Given the description of an element on the screen output the (x, y) to click on. 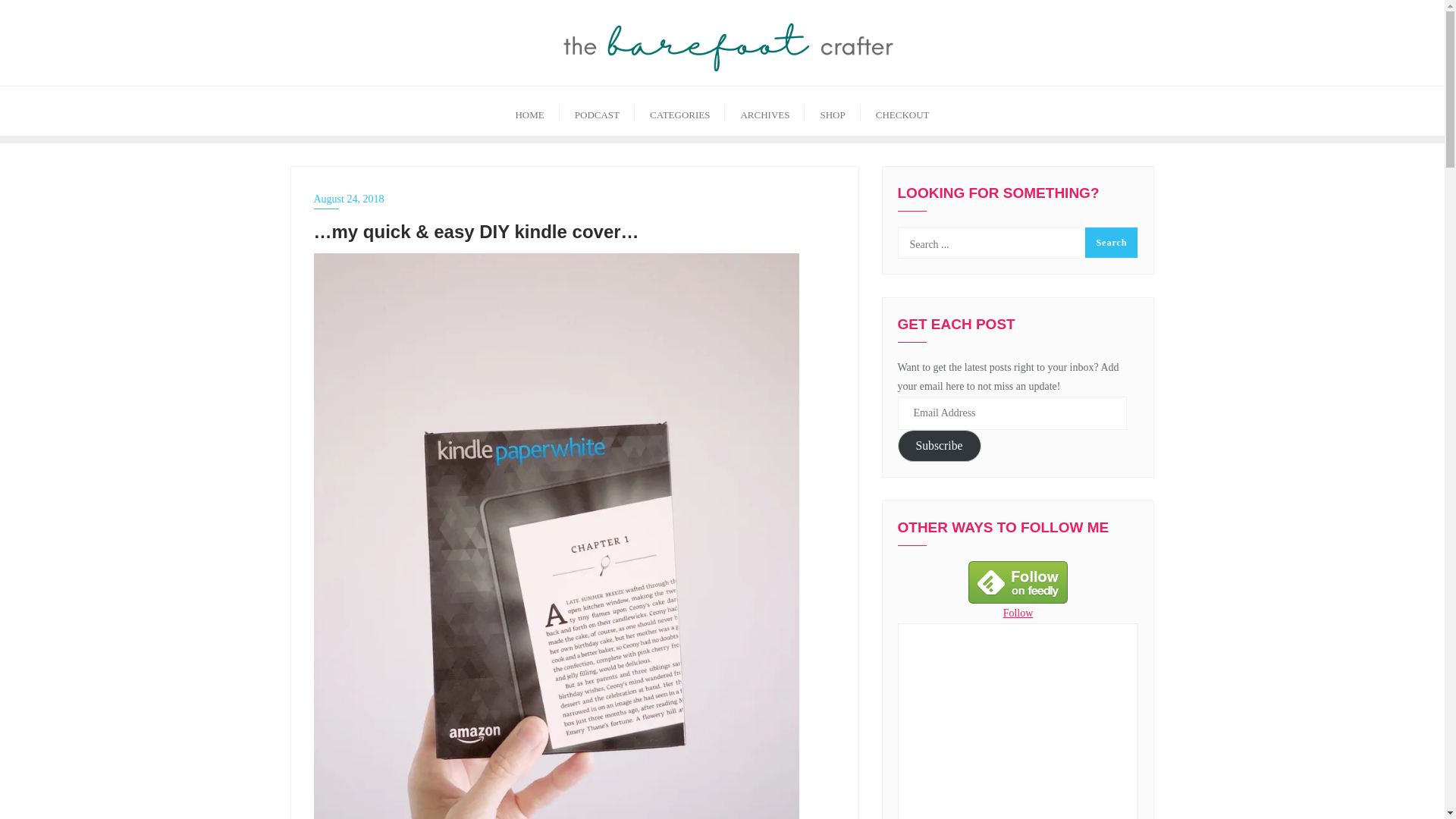
SHOP (832, 110)
PODCAST (596, 110)
CATEGORIES (679, 110)
Search (1110, 242)
August 24, 2018 (574, 198)
CHECKOUT (902, 110)
HOME (529, 110)
Search (1110, 242)
ARCHIVES (765, 110)
